Given the description of an element on the screen output the (x, y) to click on. 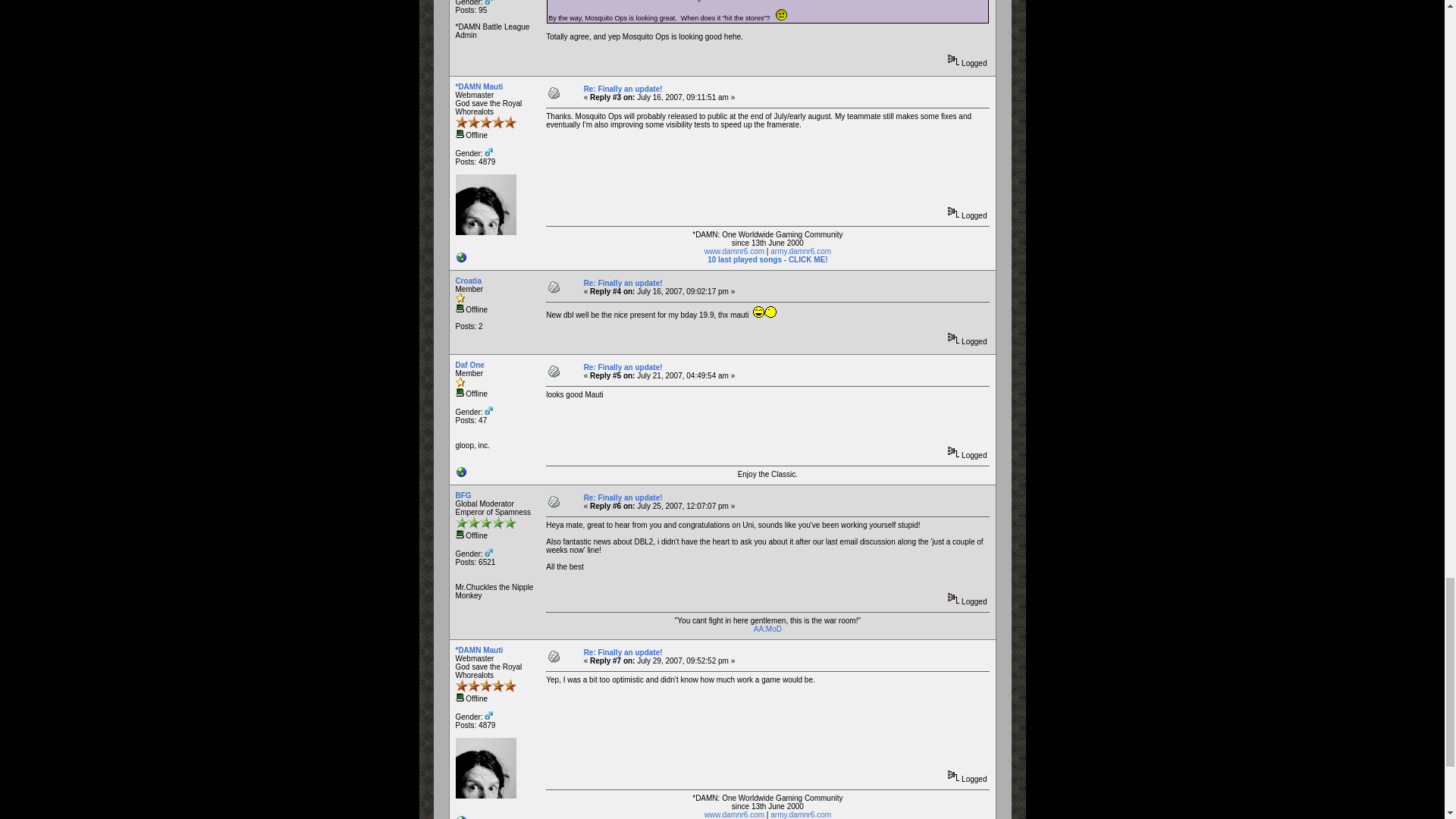
View the profile of Croatia (467, 280)
Apple Computer (460, 475)
View the profile of Daf One (468, 365)
